Given the description of an element on the screen output the (x, y) to click on. 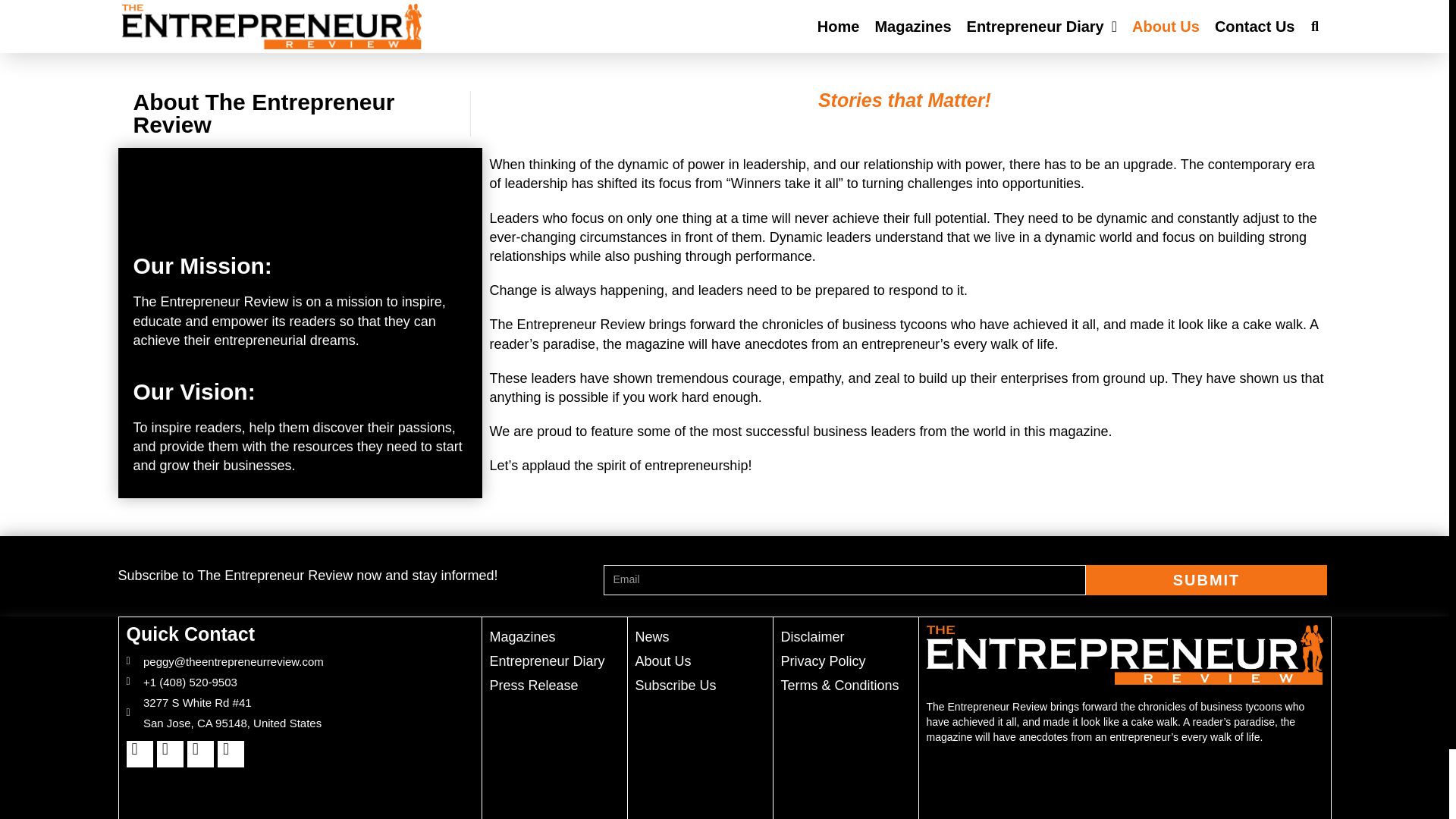
Magazines (912, 26)
Home (838, 26)
Contact Us (1254, 26)
Entrepreneur Diary (1041, 26)
About Us (1165, 26)
